Given the description of an element on the screen output the (x, y) to click on. 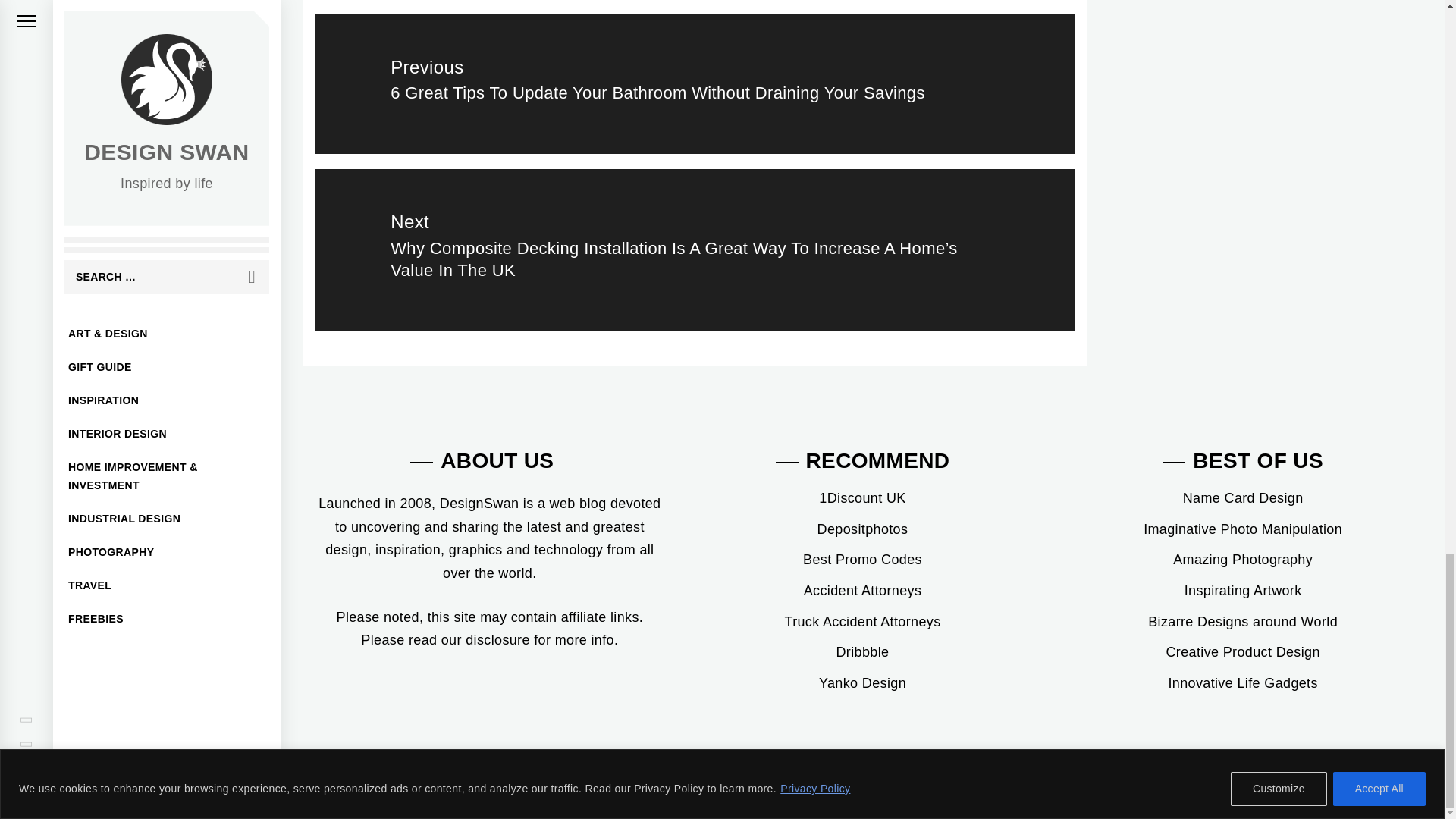
UK Voucher Codes (861, 498)
Name Card Design (1242, 498)
